Given the description of an element on the screen output the (x, y) to click on. 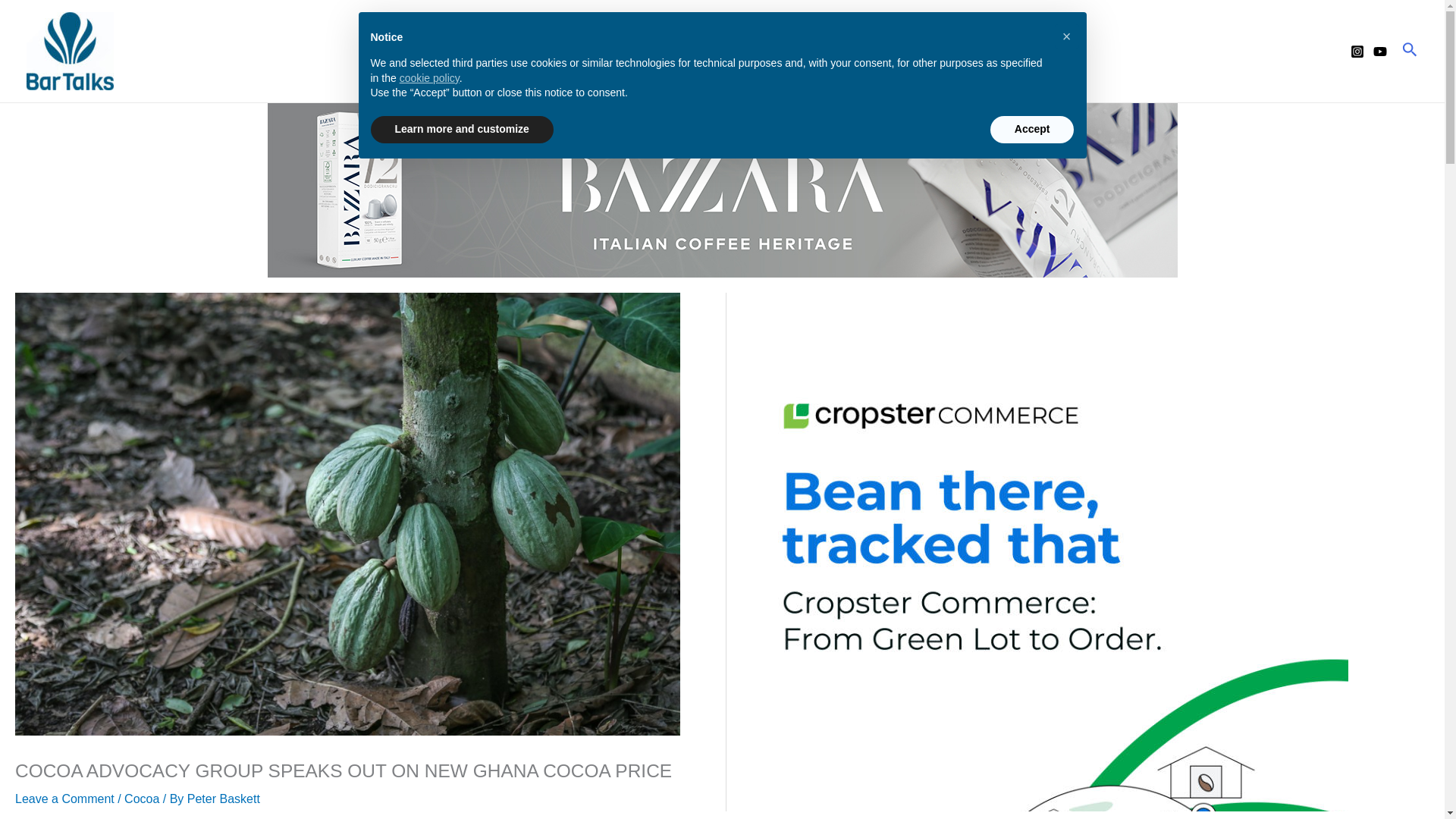
Coffee Reviews (836, 50)
View all posts by Peter Baskett (223, 798)
Coffee (737, 50)
Cocoa (663, 50)
Authors (585, 50)
